Given the description of an element on the screen output the (x, y) to click on. 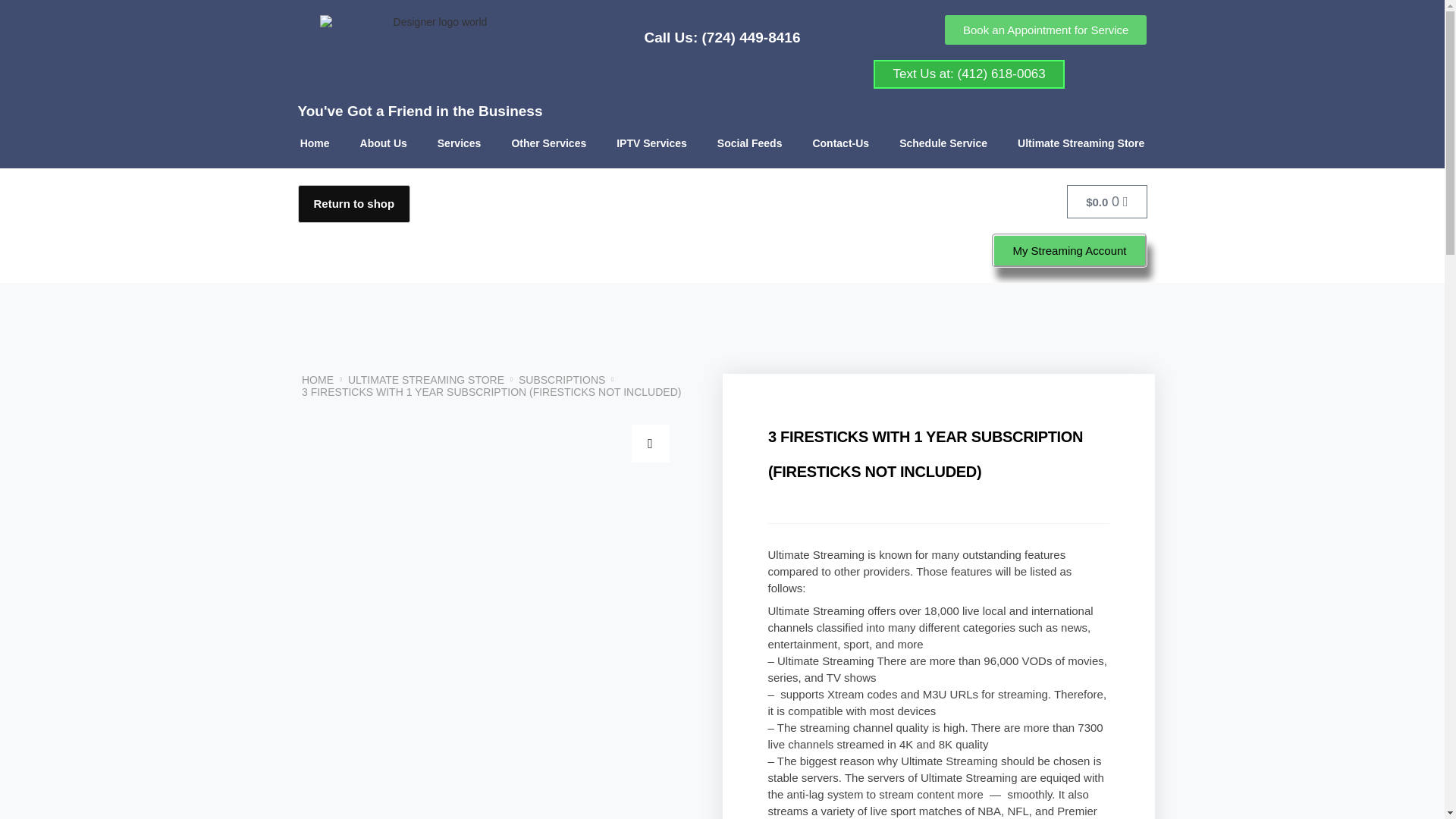
About Us (383, 143)
Home (315, 143)
Book an Appointment for Service (1045, 30)
Schedule Service (943, 143)
Other Services (548, 143)
IPTV Services (651, 143)
Ultimate Streaming Store (1080, 143)
Product Thumbnail (649, 443)
Social Feeds (749, 143)
Return To Shop (353, 203)
SUBSCRIPTIONS (561, 379)
ULTIMATE STREAMING STORE (425, 379)
Services (459, 143)
Contact-Us (839, 143)
Return to shop (353, 203)
